Given the description of an element on the screen output the (x, y) to click on. 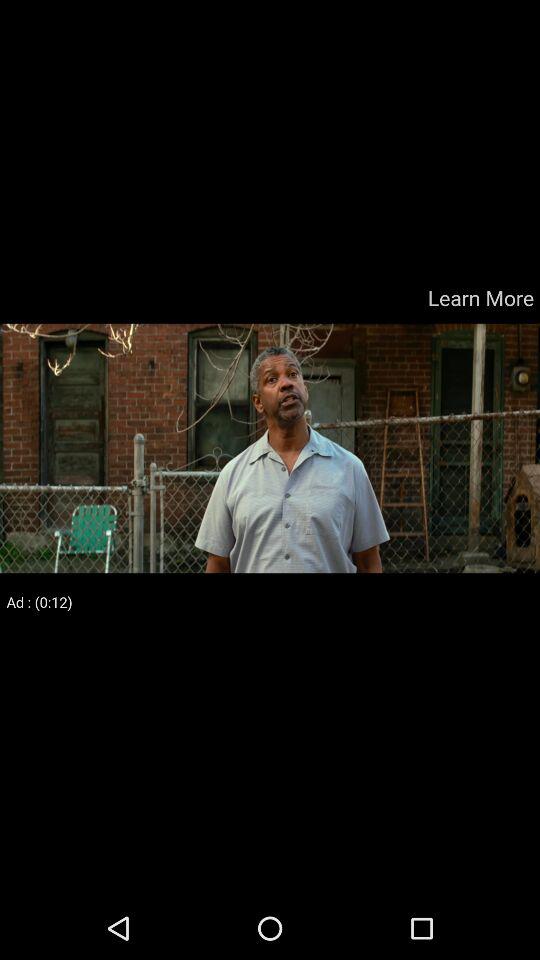
movie advertisements (270, 448)
